Given the description of an element on the screen output the (x, y) to click on. 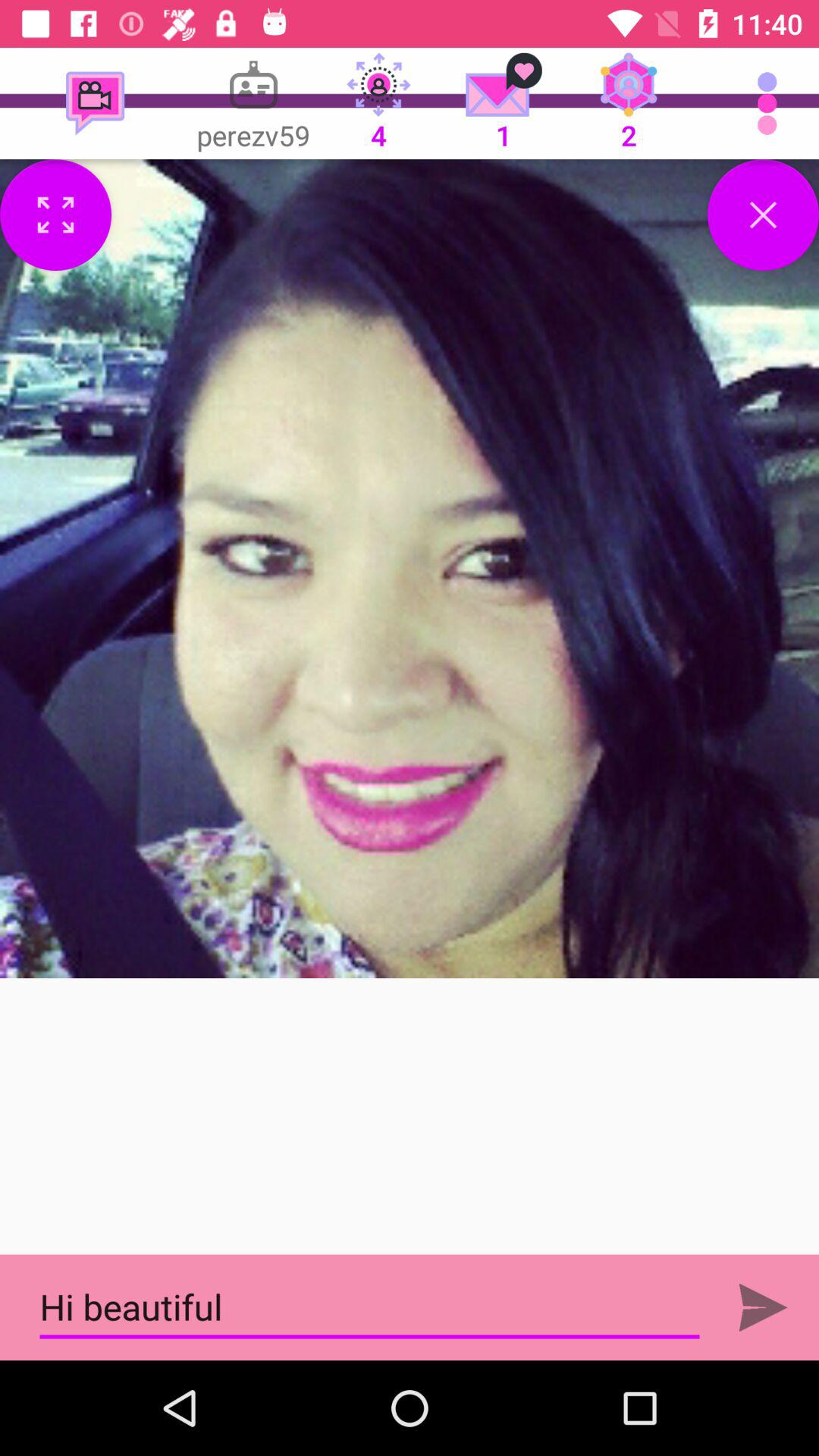
go next (763, 1307)
